Given the description of an element on the screen output the (x, y) to click on. 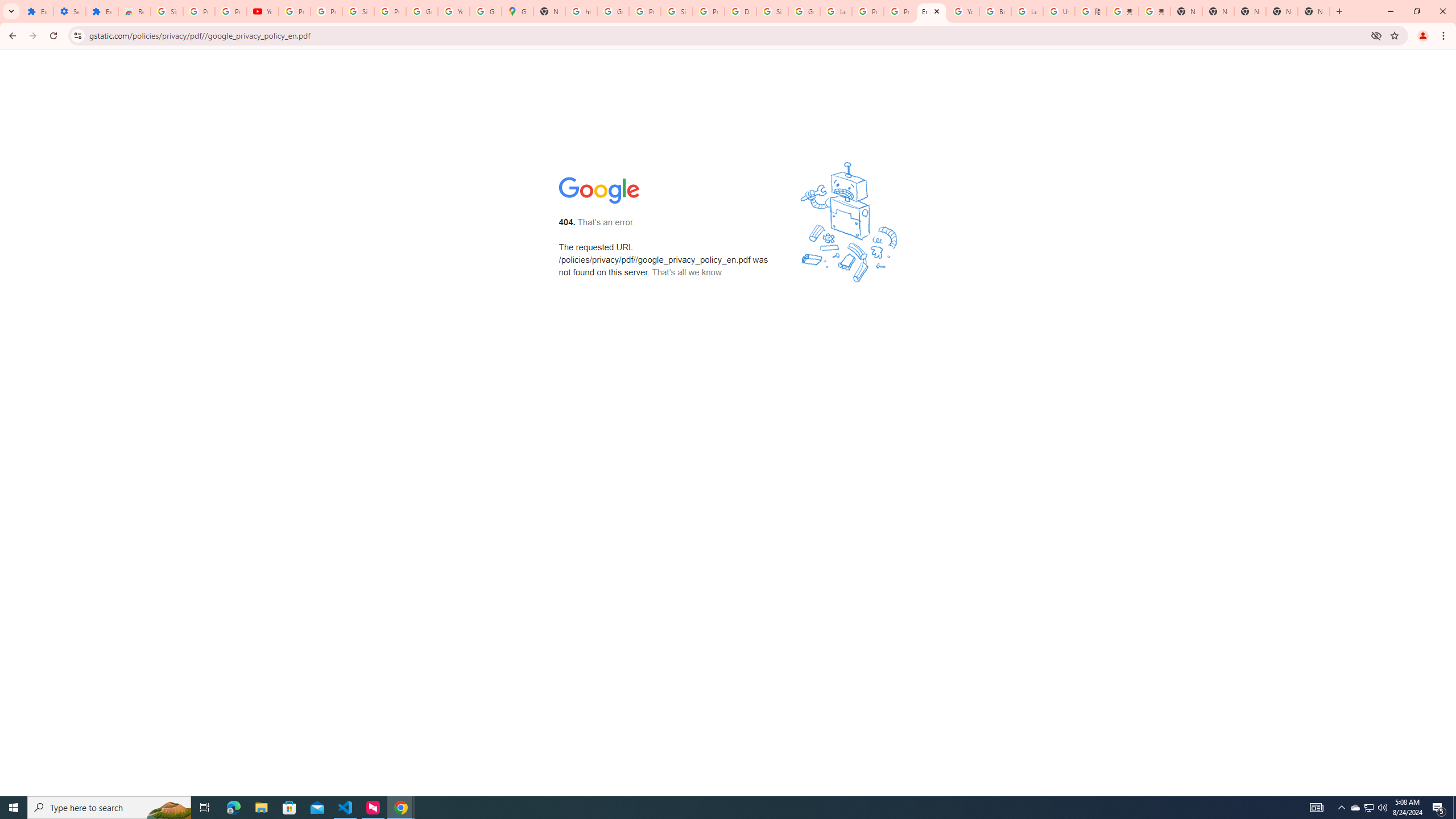
YouTube (262, 11)
Google Maps (517, 11)
New Tab (1185, 11)
YouTube (963, 11)
Extensions (37, 11)
Reviews: Helix Fruit Jump Arcade Game (134, 11)
